Given the description of an element on the screen output the (x, y) to click on. 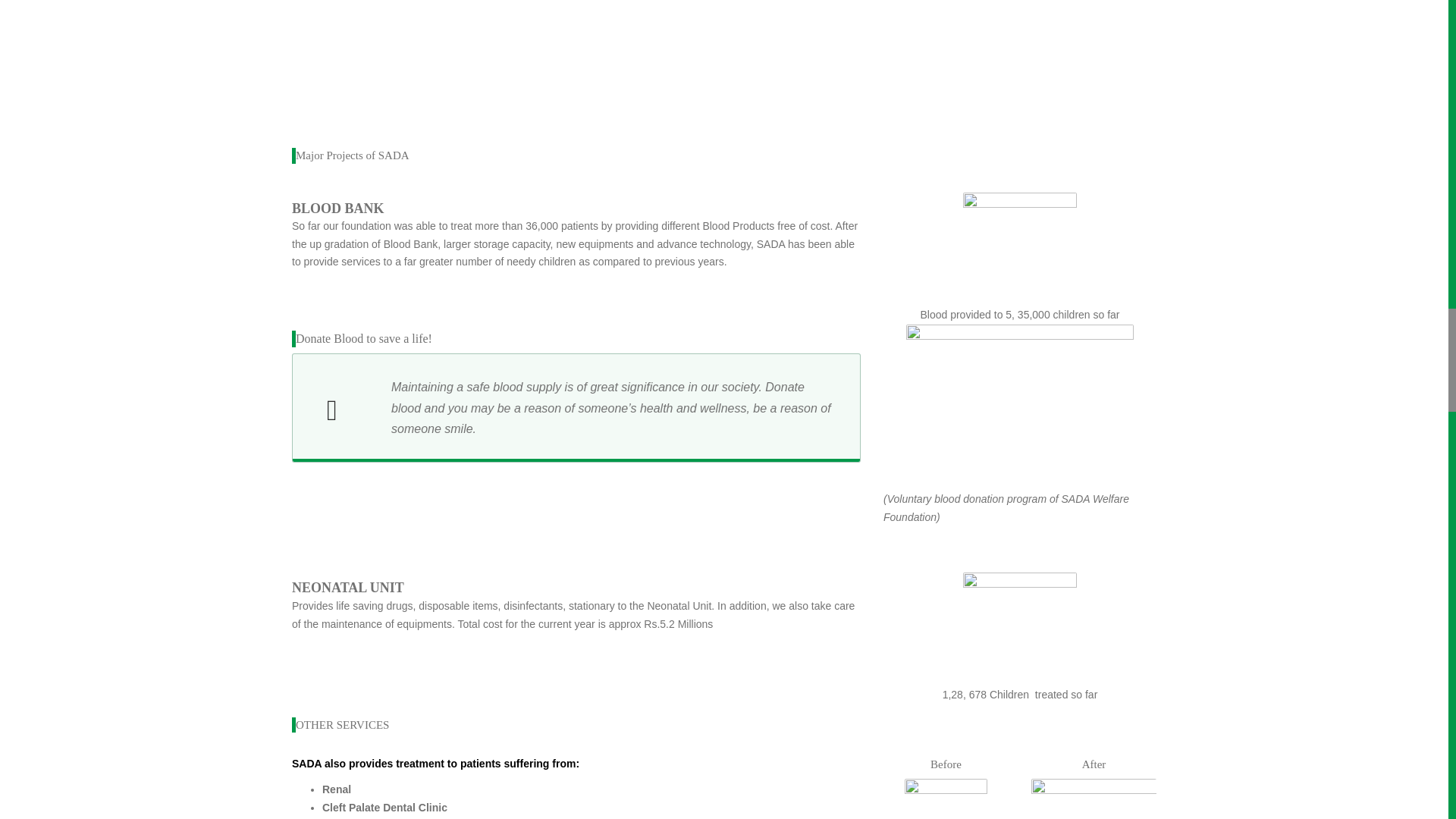
Capture (945, 798)
b (1019, 629)
a (1019, 249)
Capture1 (1093, 798)
bb (1019, 407)
